Given the description of an element on the screen output the (x, y) to click on. 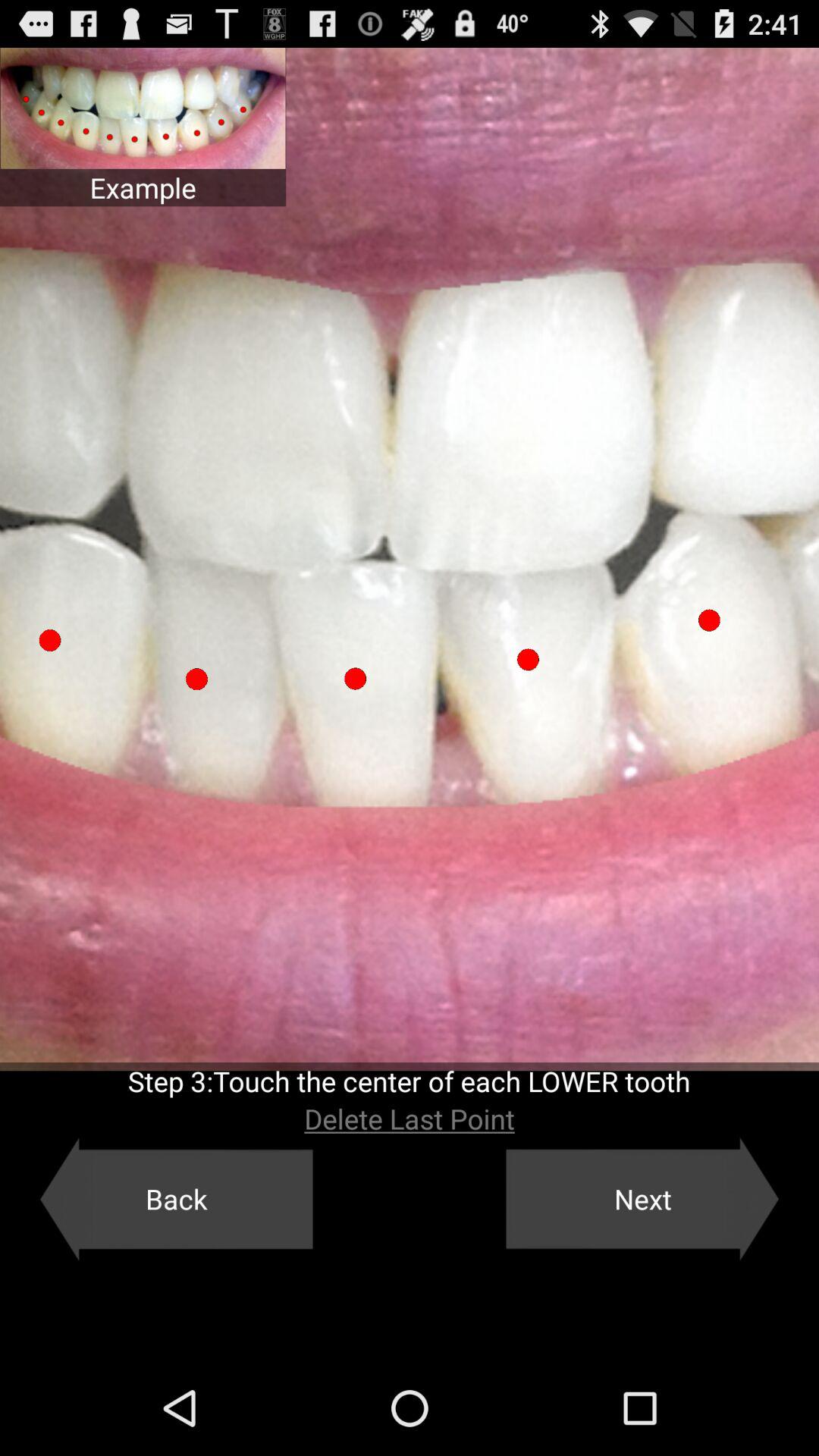
turn off the button to the left of the next icon (175, 1198)
